Given the description of an element on the screen output the (x, y) to click on. 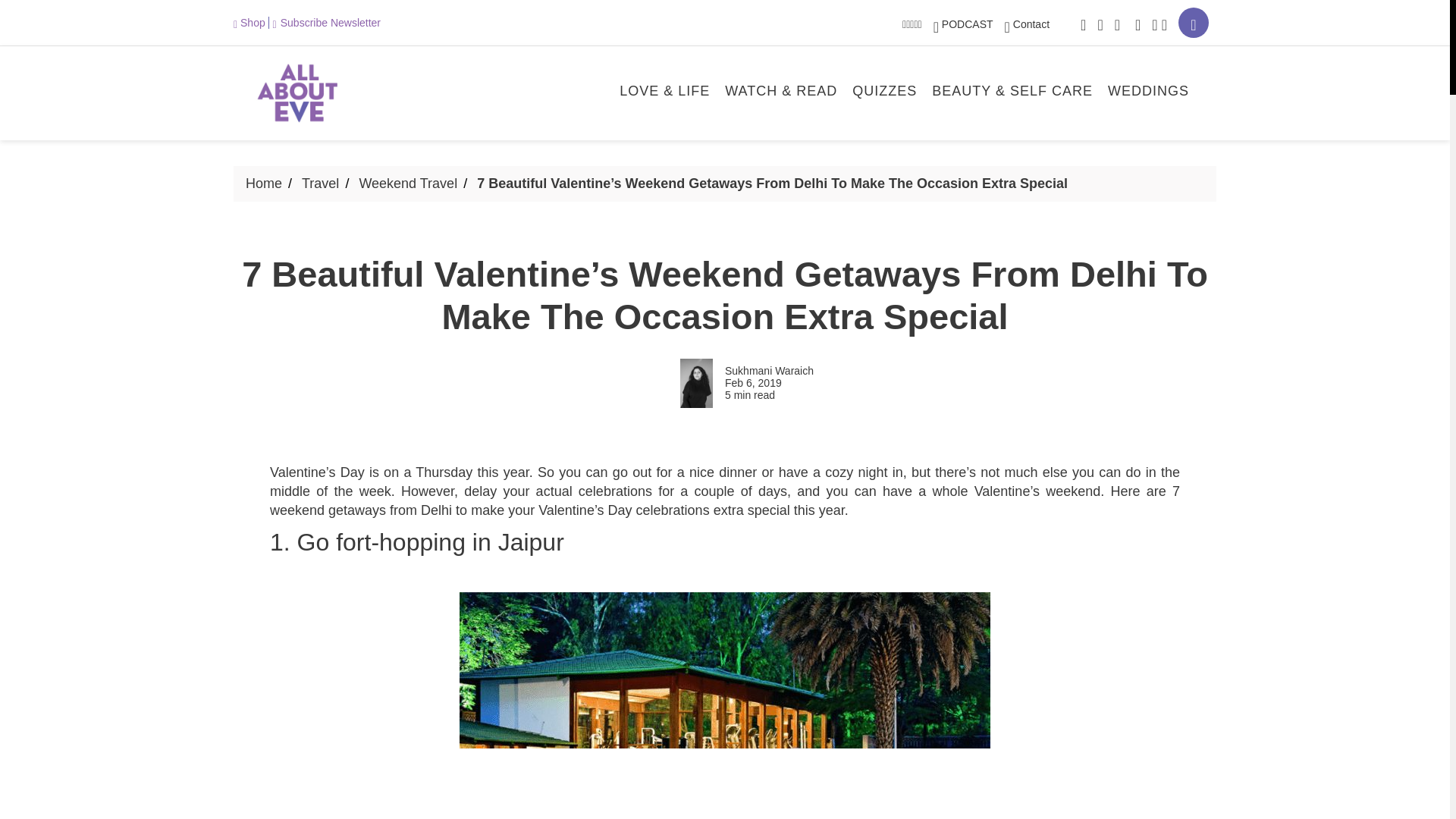
QUIZZES (884, 92)
Subscribe Newsletter (326, 22)
PODCAST (962, 24)
Shop (250, 22)
Home (264, 183)
Contact (1026, 24)
